Given the description of an element on the screen output the (x, y) to click on. 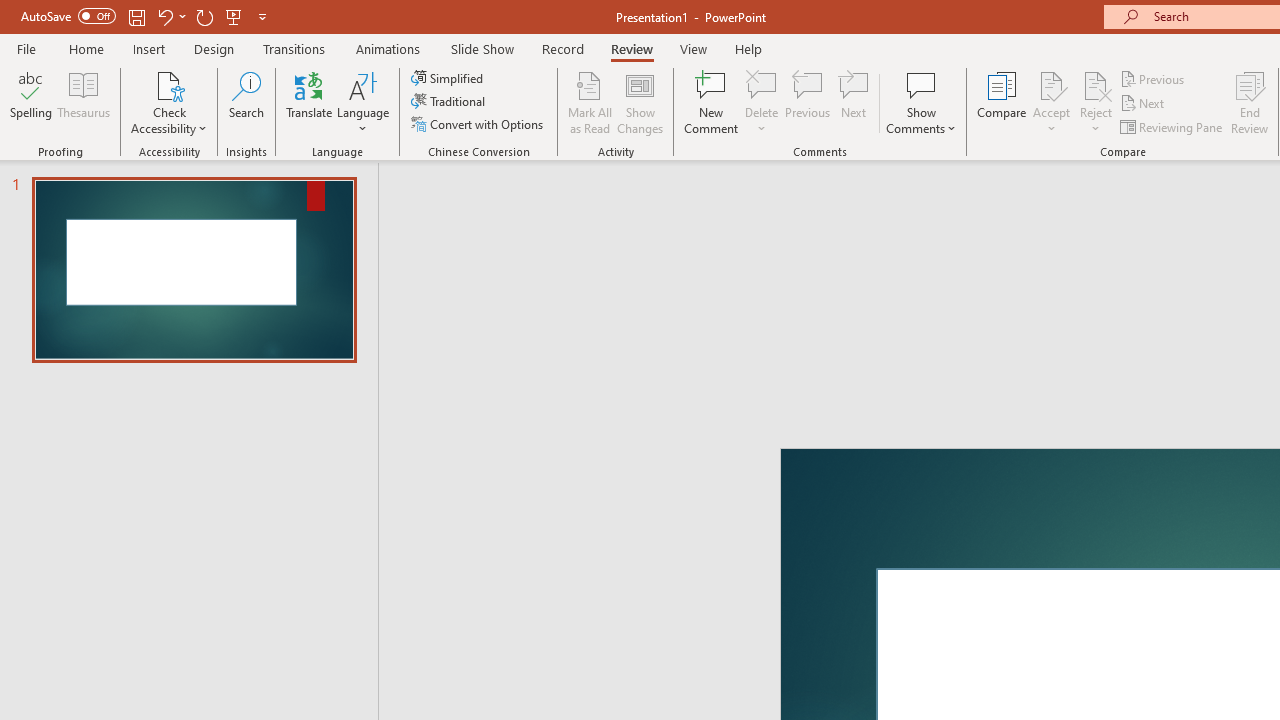
Compare (1002, 102)
Slide (194, 269)
Accept Change (1051, 84)
Language (363, 102)
Mark All as Read (589, 102)
Accept (1051, 102)
End Review (1249, 102)
Convert with Options... (479, 124)
Translate (309, 102)
Next (1144, 103)
Previous (1153, 78)
